Given the description of an element on the screen output the (x, y) to click on. 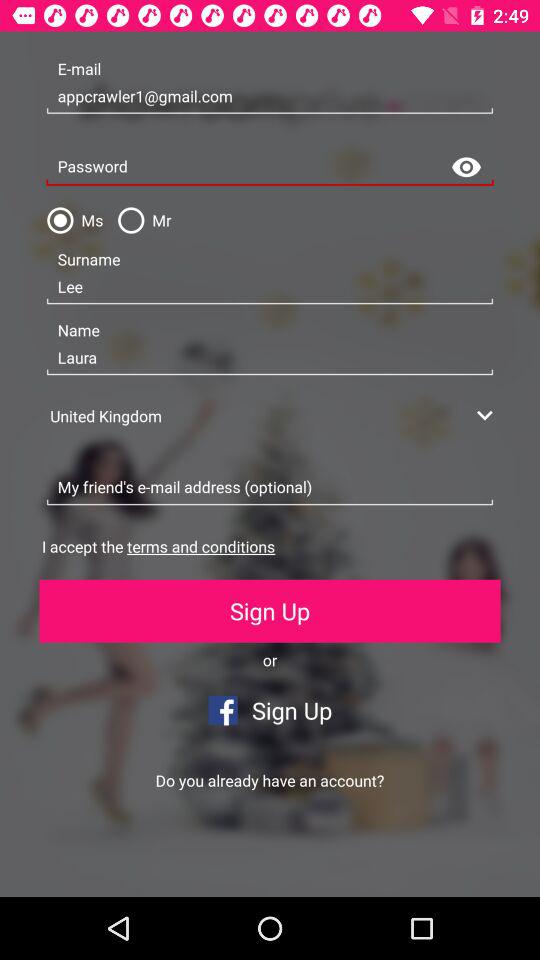
a friend 's email not mandatory (270, 488)
